Given the description of an element on the screen output the (x, y) to click on. 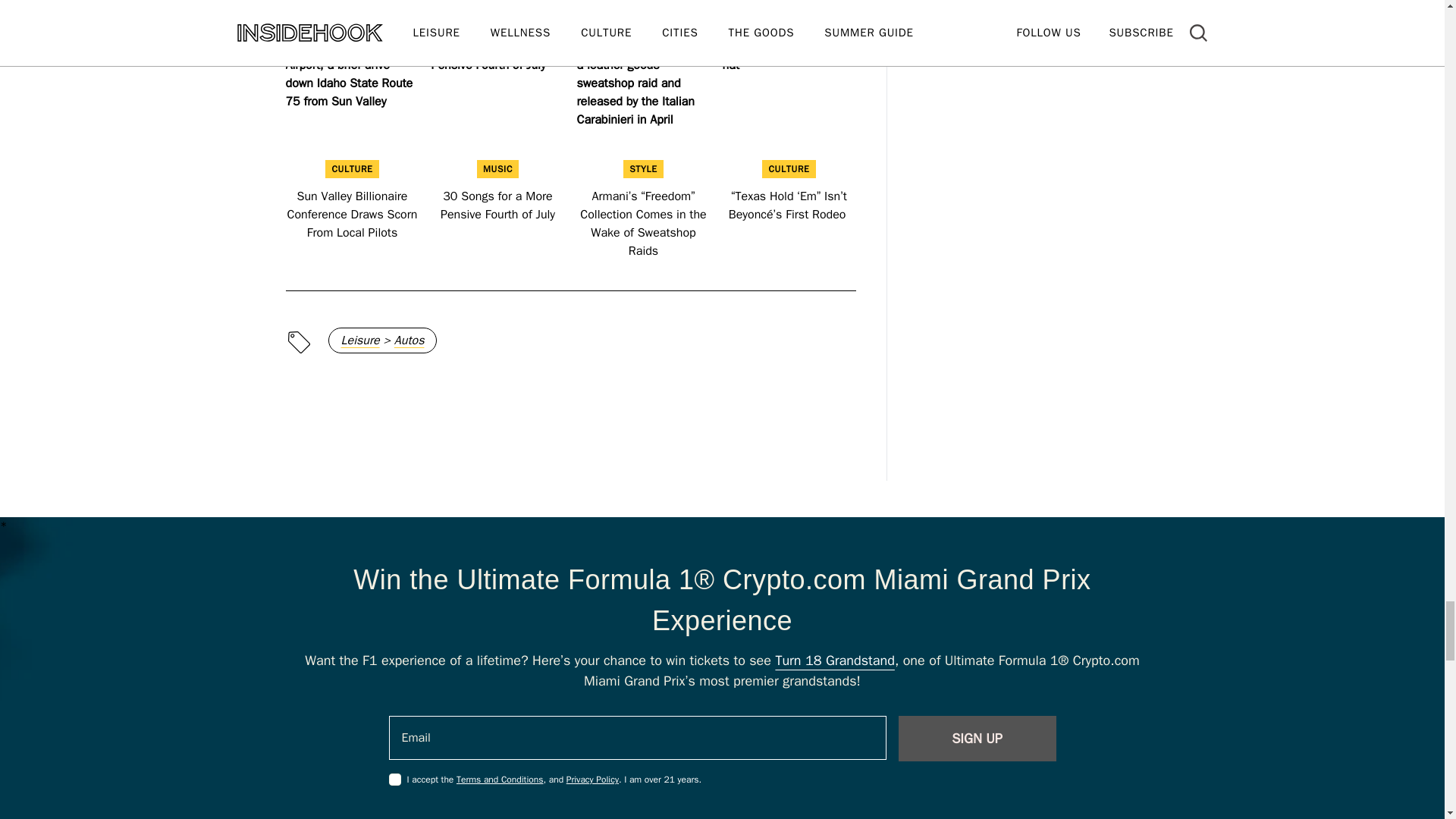
on (394, 779)
